Given the description of an element on the screen output the (x, y) to click on. 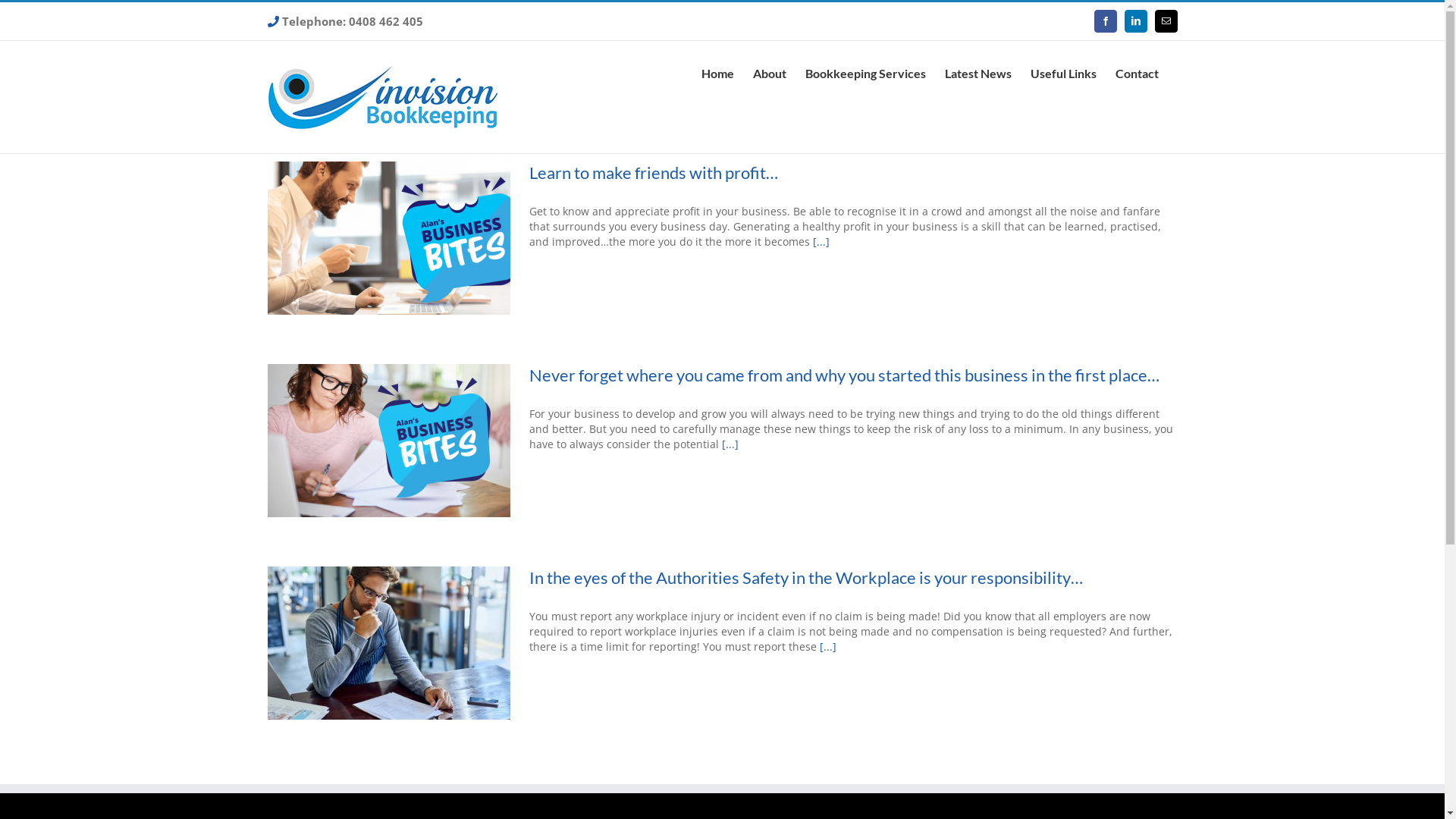
About Element type: text (768, 73)
Bookkeeping Services Element type: text (865, 73)
Facebook Element type: text (1104, 20)
[...] Element type: text (827, 646)
Latest News Element type: text (977, 73)
Email Element type: text (1165, 20)
0408 462 405 Element type: text (385, 20)
Useful Links Element type: text (1062, 73)
[...] Element type: text (729, 443)
Home Element type: text (716, 73)
LinkedIn Element type: text (1134, 20)
[...] Element type: text (820, 241)
Contact Element type: text (1135, 73)
